Given the description of an element on the screen output the (x, y) to click on. 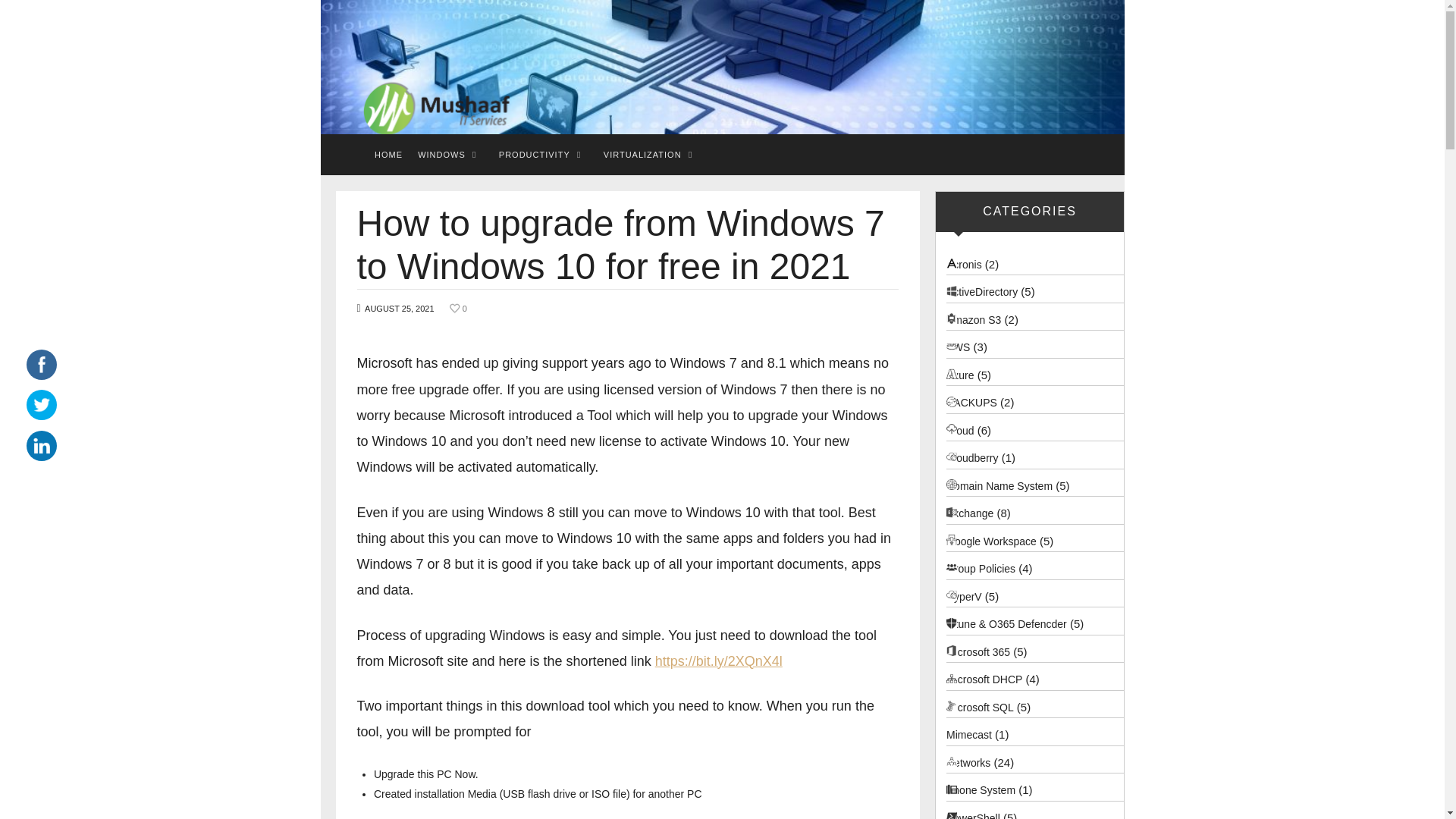
VIRTUALIZATION (642, 154)
slider2 (722, 67)
WINDOWS (441, 154)
Next (1149, 67)
Recommend this (457, 308)
PRODUCTIVITY (534, 154)
Previous (293, 70)
Search (40, 17)
AUGUST 25, 2021 (399, 307)
Mushaaf Blog (429, 105)
